Given the description of an element on the screen output the (x, y) to click on. 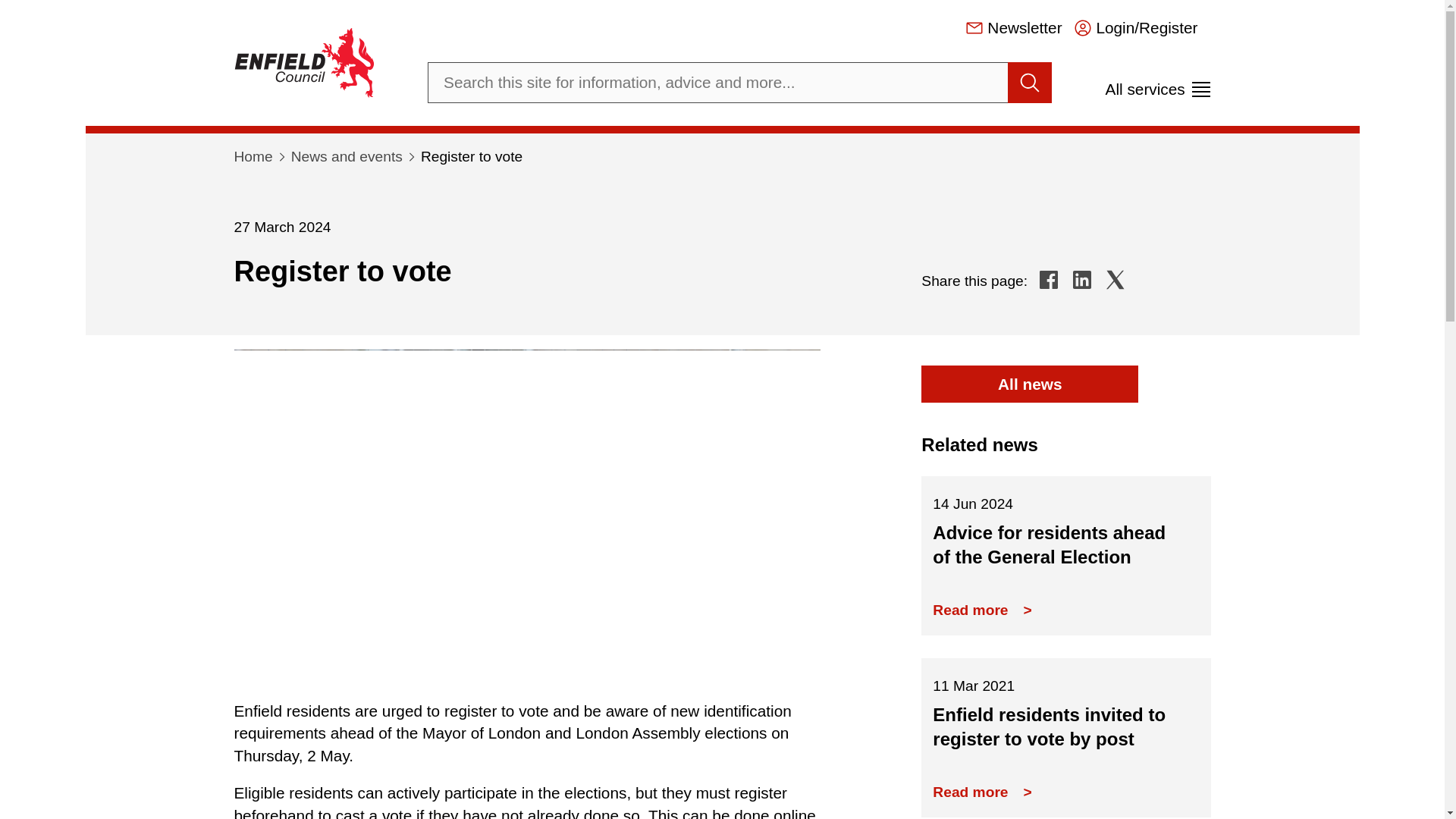
Newsletter (1013, 26)
Facebook (1158, 83)
LinkedIn (1048, 279)
Search (1082, 279)
News and events (1029, 82)
Twitter (347, 156)
Home (1114, 279)
